Given the description of an element on the screen output the (x, y) to click on. 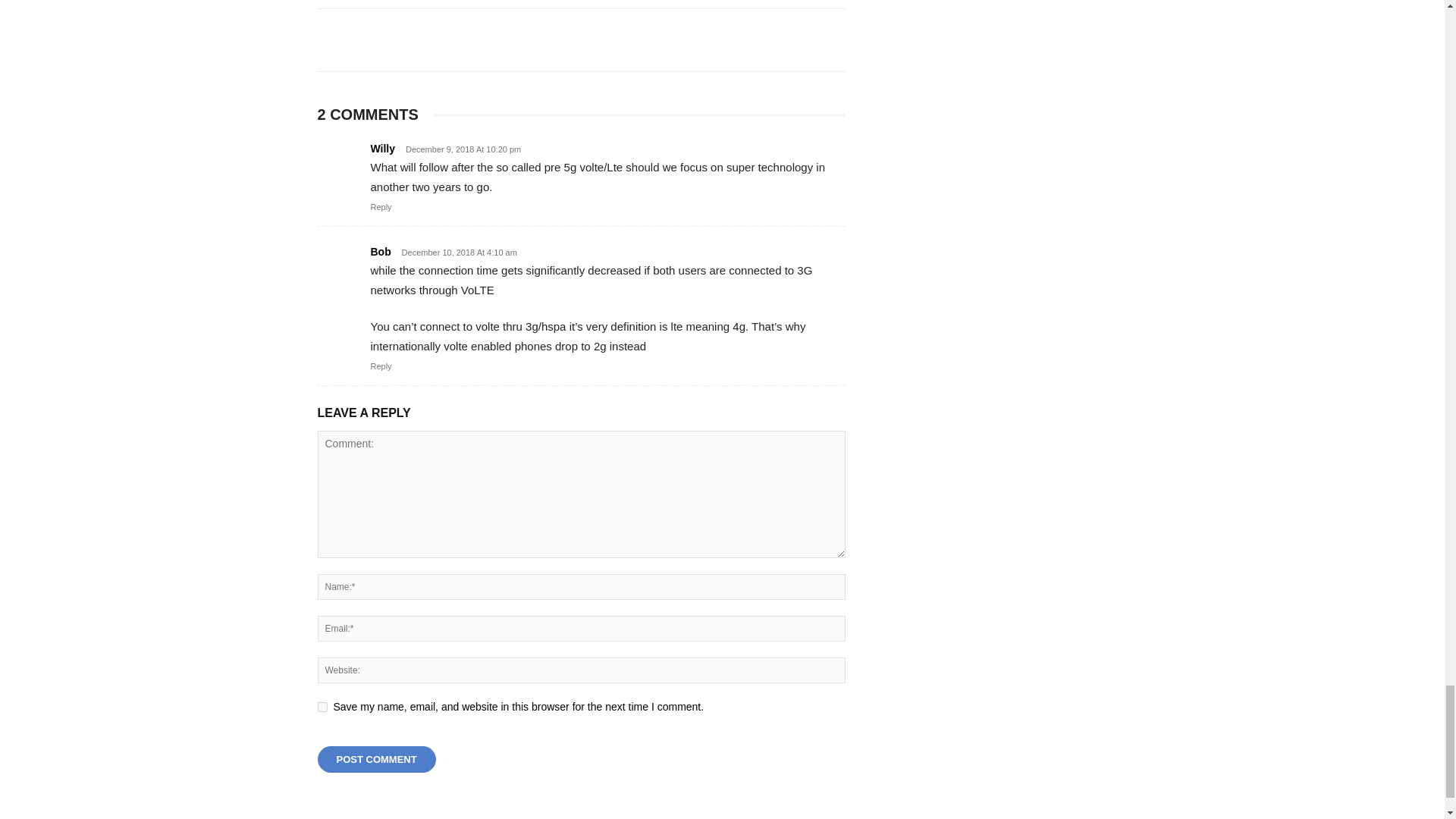
Post Comment (376, 759)
yes (321, 706)
